Given the description of an element on the screen output the (x, y) to click on. 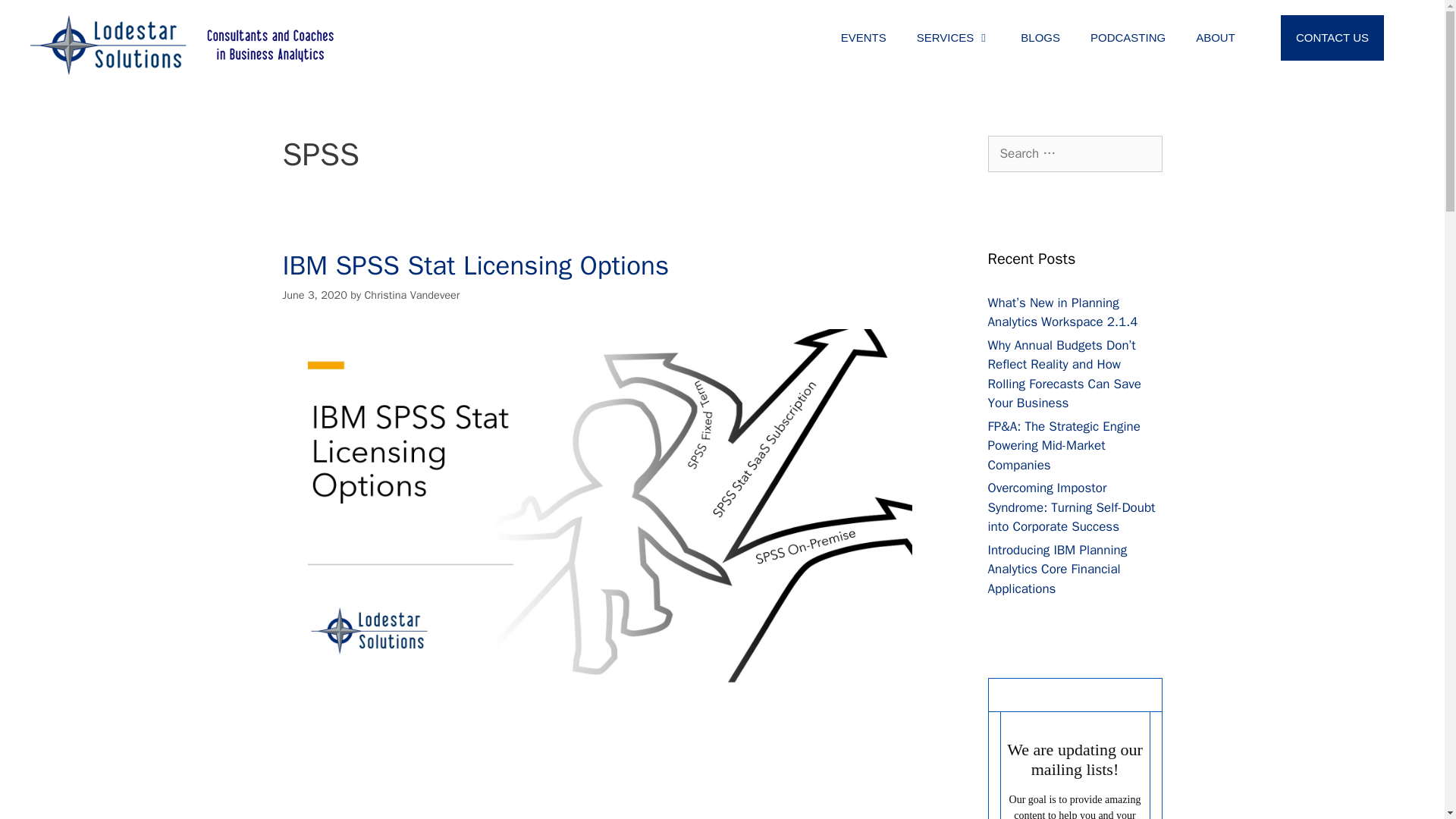
SERVICES (953, 37)
CONTACT US (1332, 37)
Lodestar Solutions (181, 44)
EVENTS (863, 37)
Christina Vandeveer (412, 295)
ABOUT (1215, 37)
IBM SPSS Stat Licensing Options (475, 264)
Lodestar Solutions (181, 45)
BLOGS (1040, 37)
View all posts by Christina Vandeveer (412, 295)
Search for: (1074, 153)
PODCASTING (1127, 37)
